Given the description of an element on the screen output the (x, y) to click on. 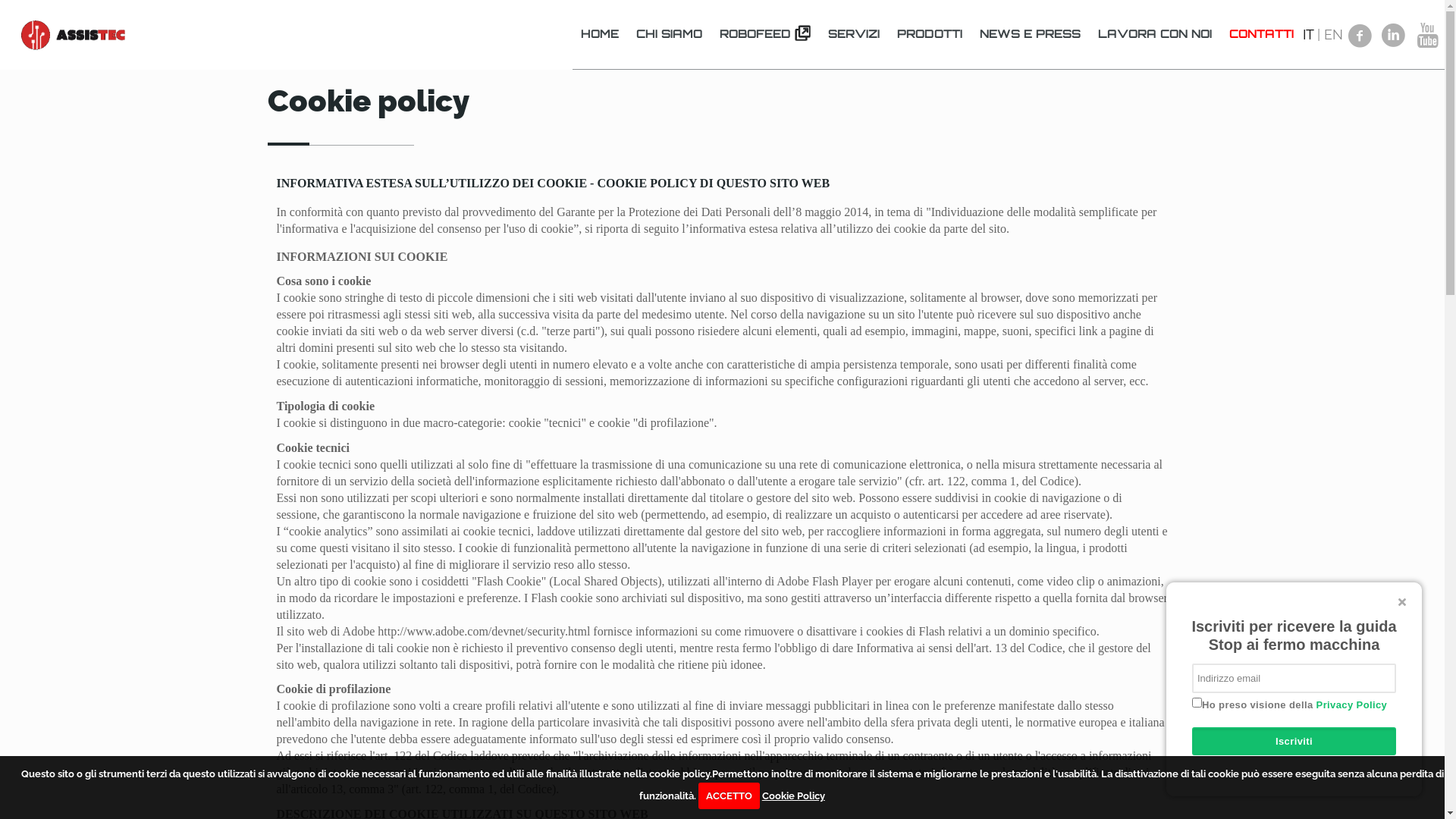
EN Element type: text (1333, 34)
LAVORA CON NOI Element type: text (1154, 34)
NEWS E PRESS Element type: text (1030, 34)
IT Element type: text (1307, 34)
Iscriviti Element type: text (1294, 741)
CHI SIAMO Element type: text (669, 34)
ACCETTO Element type: text (728, 795)
Privacy Policy Element type: text (1351, 704)
SERVIZI Element type: text (853, 34)
CONTATTI Element type: text (1261, 34)
Assistec Element type: hover (74, 34)
ROBOFEED Element type: text (765, 34)
Cookie Policy Element type: text (793, 795)
PRODOTTI Element type: text (929, 34)
HOME Element type: text (599, 34)
